Given the description of an element on the screen output the (x, y) to click on. 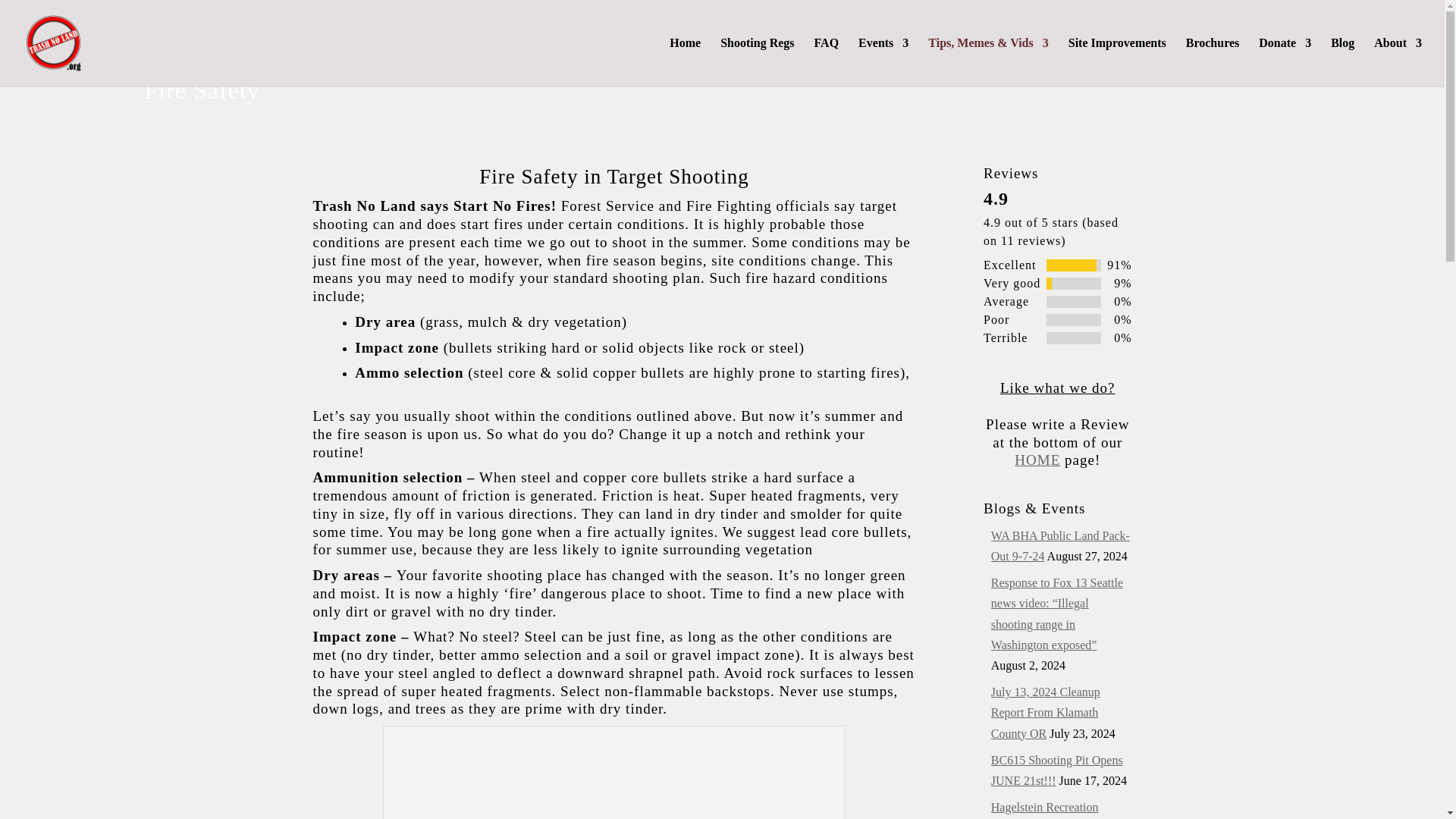
Hagelstein Recreation Restoration 7-13-24 (1045, 809)
July 13, 2024 Cleanup Report From Klamath County OR (1045, 712)
Improving dispersed target shooting lanes on public lands. (1117, 61)
Site Improvements (1117, 61)
WA BHA Public Land Pack-Out 9-7-24 (1060, 545)
Events (883, 61)
Shooting Regs (756, 61)
BC615 Shooting Pit Opens JUNE 21st!!! (1056, 770)
HOME (1036, 459)
